Given the description of an element on the screen output the (x, y) to click on. 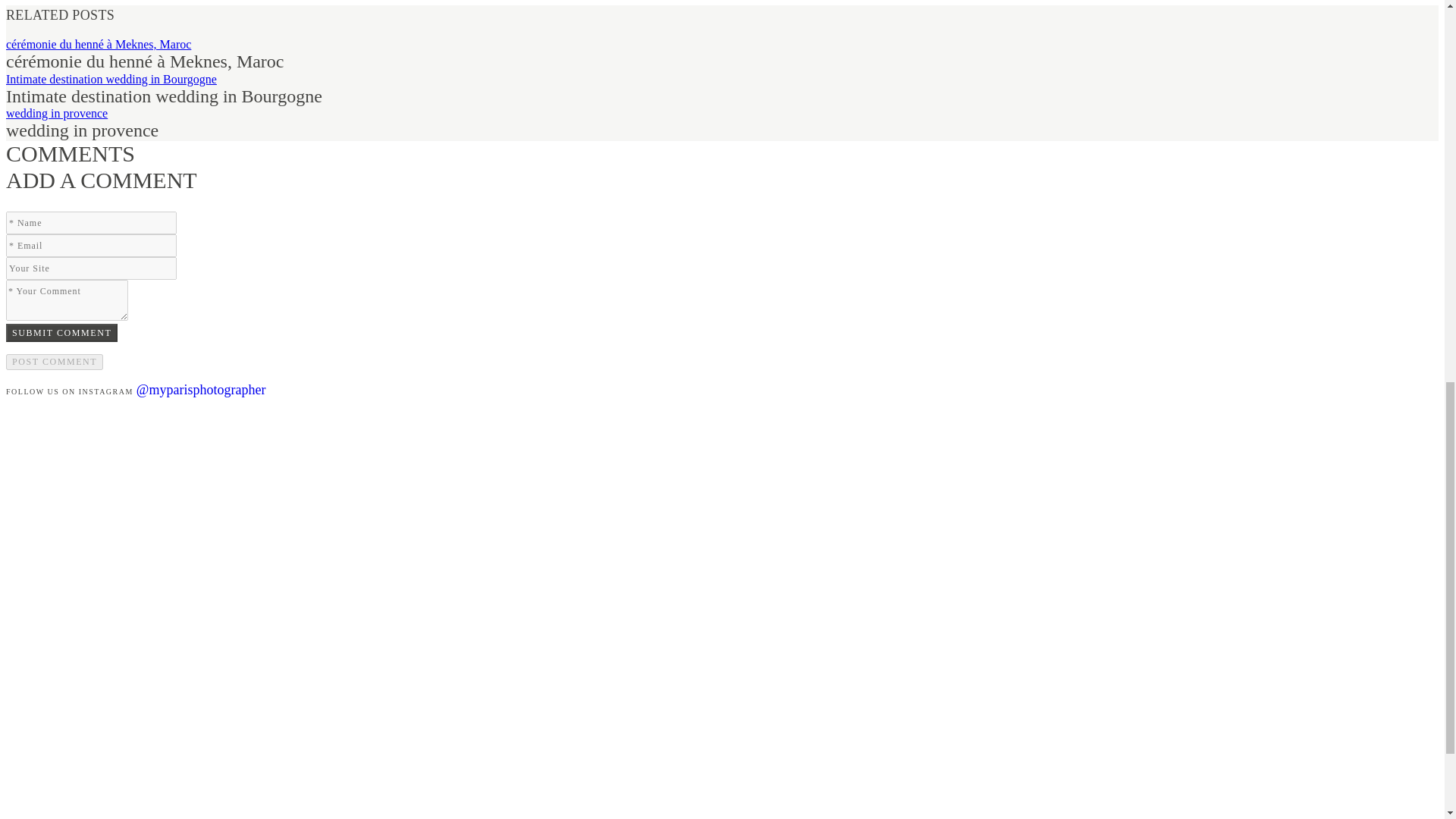
SUBMIT COMMENT (61, 332)
Intimate destination wedding in Bourgogne (110, 78)
Post Comment (54, 361)
wedding in provence (56, 113)
Post Comment (54, 361)
